Given the description of an element on the screen output the (x, y) to click on. 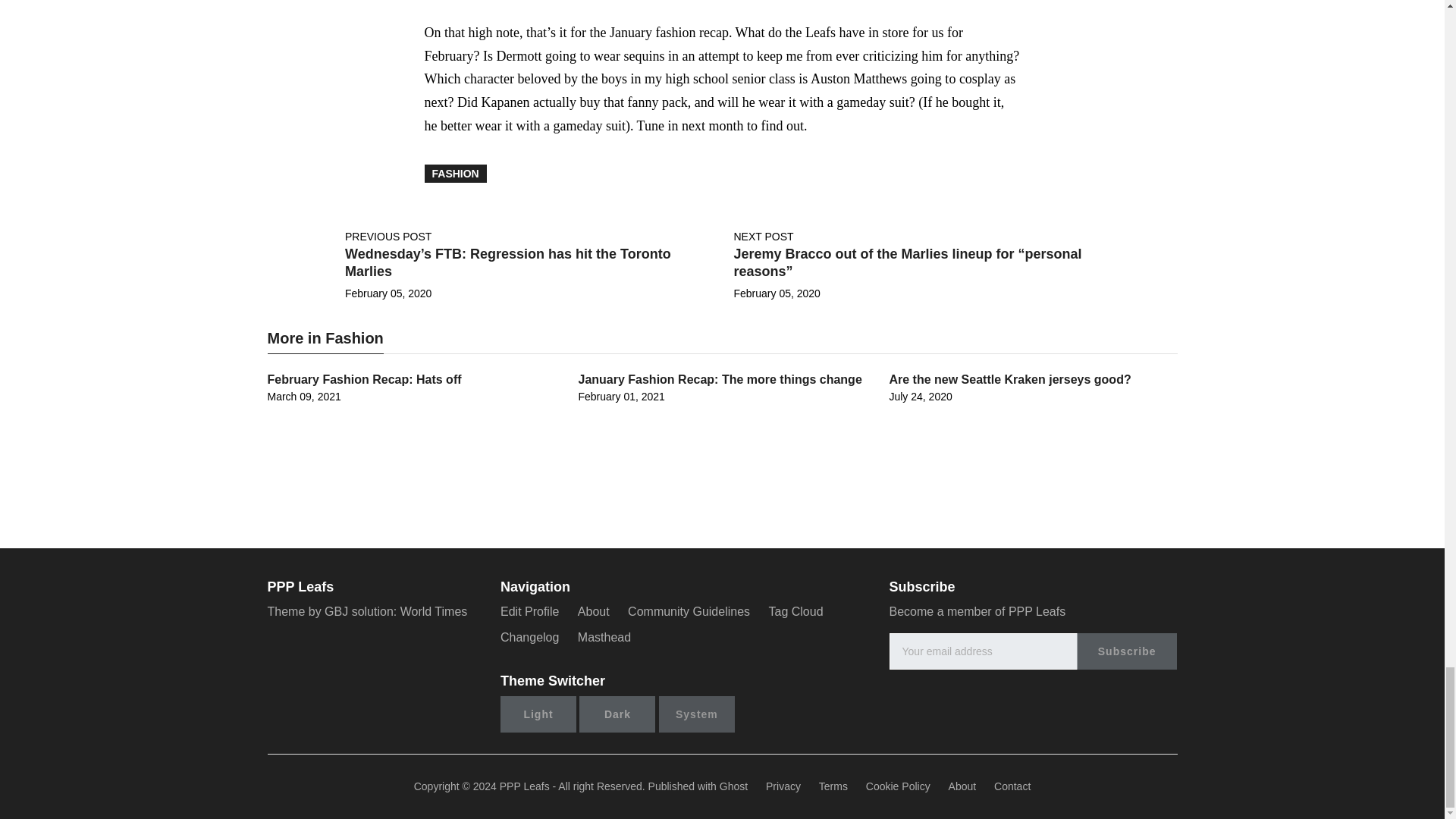
01 February, 2021 (620, 396)
09 March, 2021 (303, 396)
05 February, 2020 (387, 293)
24 July, 2020 (920, 396)
05 February, 2020 (776, 293)
